Given the description of an element on the screen output the (x, y) to click on. 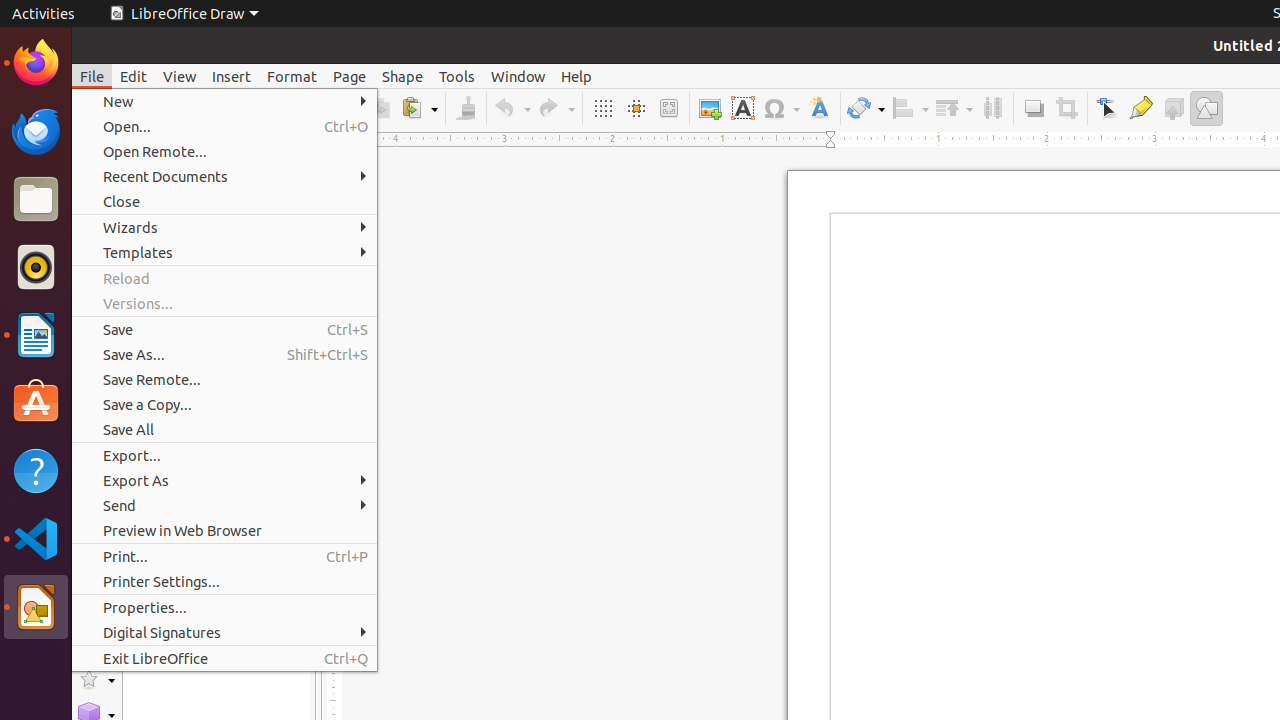
Star Shapes Element type: push-button (96, 679)
Ellipse Element type: push-button (95, 348)
Recent Documents Element type: menu (224, 176)
Send Element type: menu (224, 505)
Save As... Element type: menu-item (224, 354)
